Given the description of an element on the screen output the (x, y) to click on. 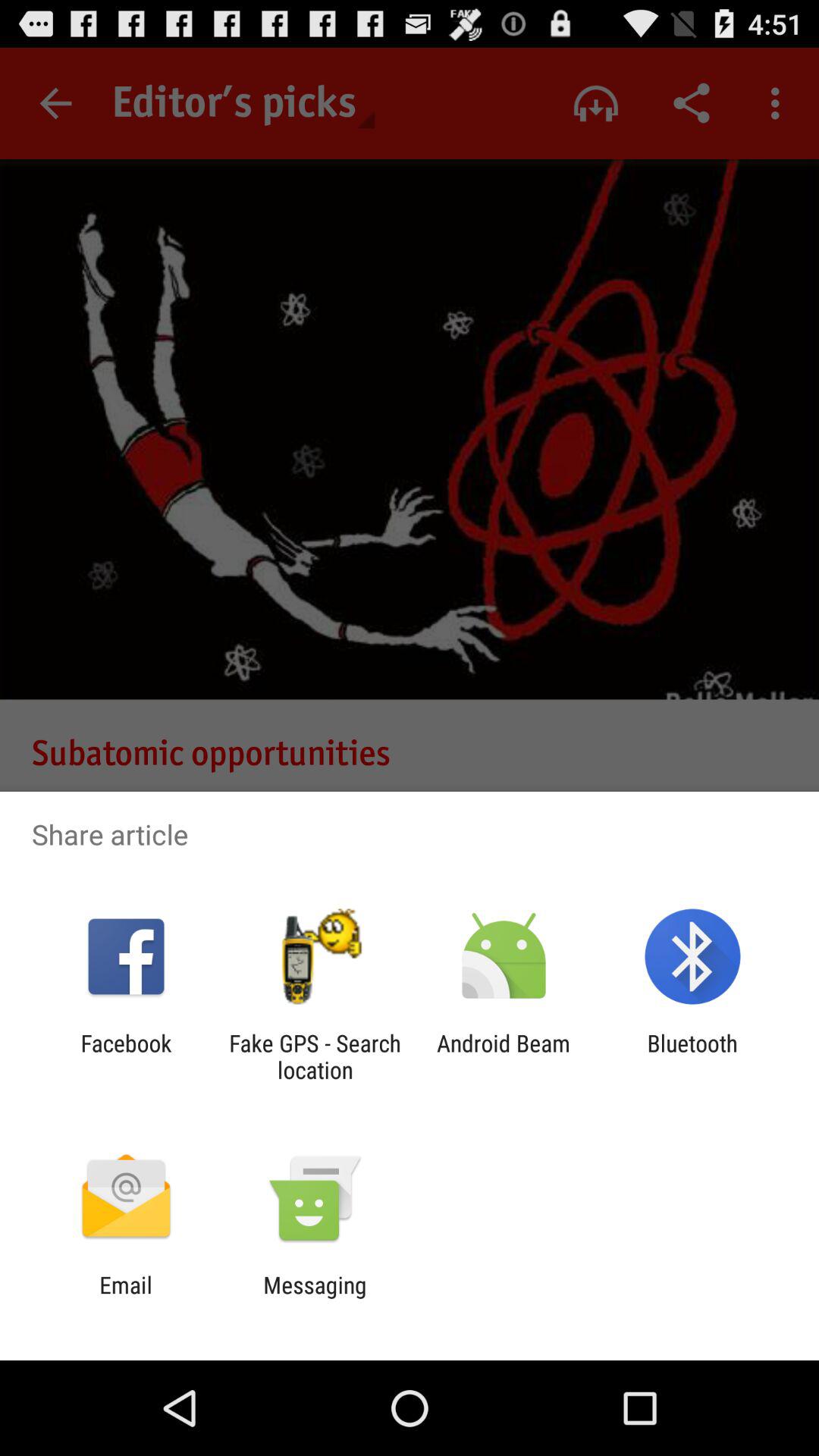
turn off app at the bottom right corner (692, 1056)
